Given the description of an element on the screen output the (x, y) to click on. 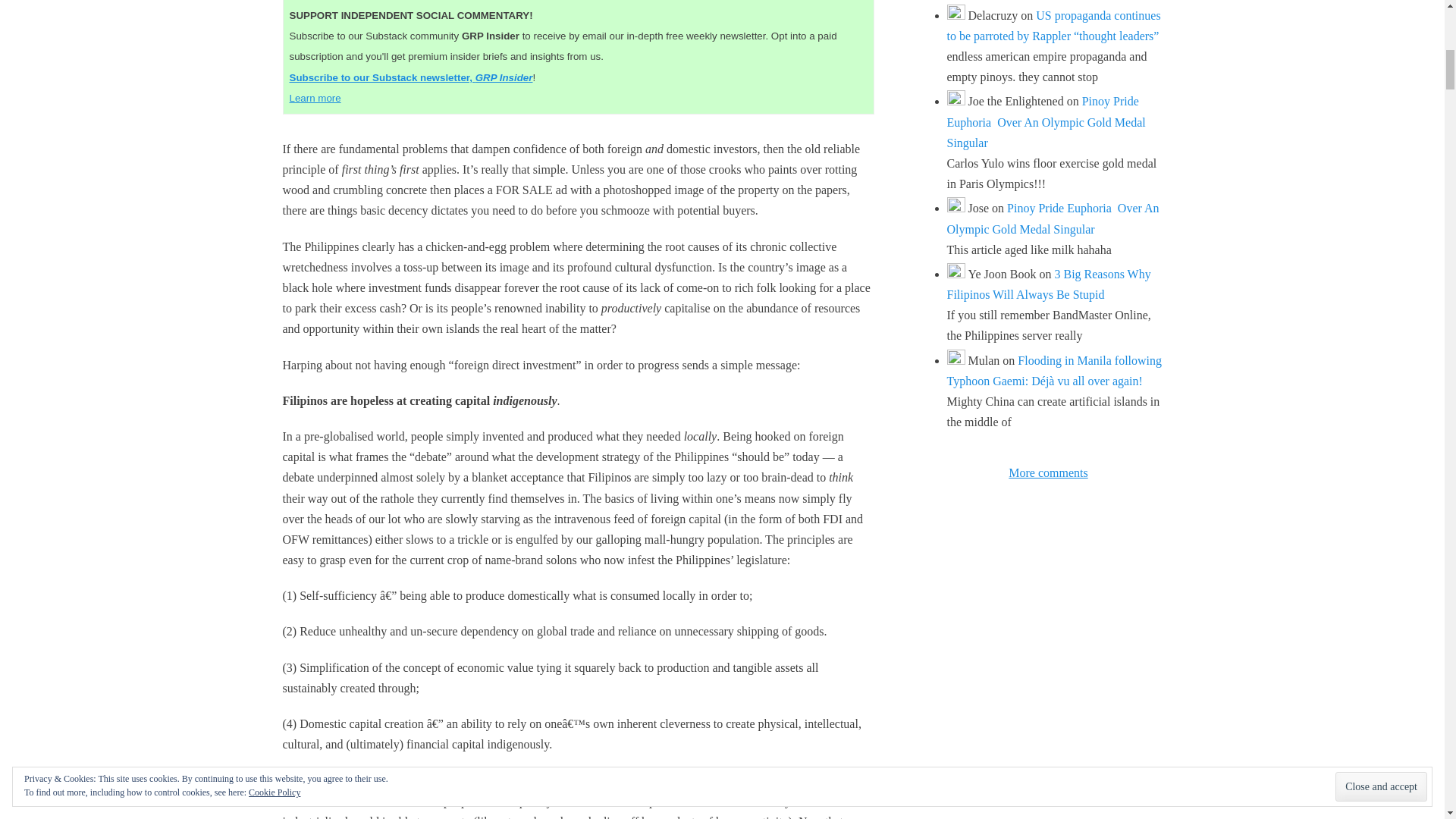
Subscribe to our Substack newsletter, GRP Insider (410, 77)
Learn more (314, 98)
